Given the description of an element on the screen output the (x, y) to click on. 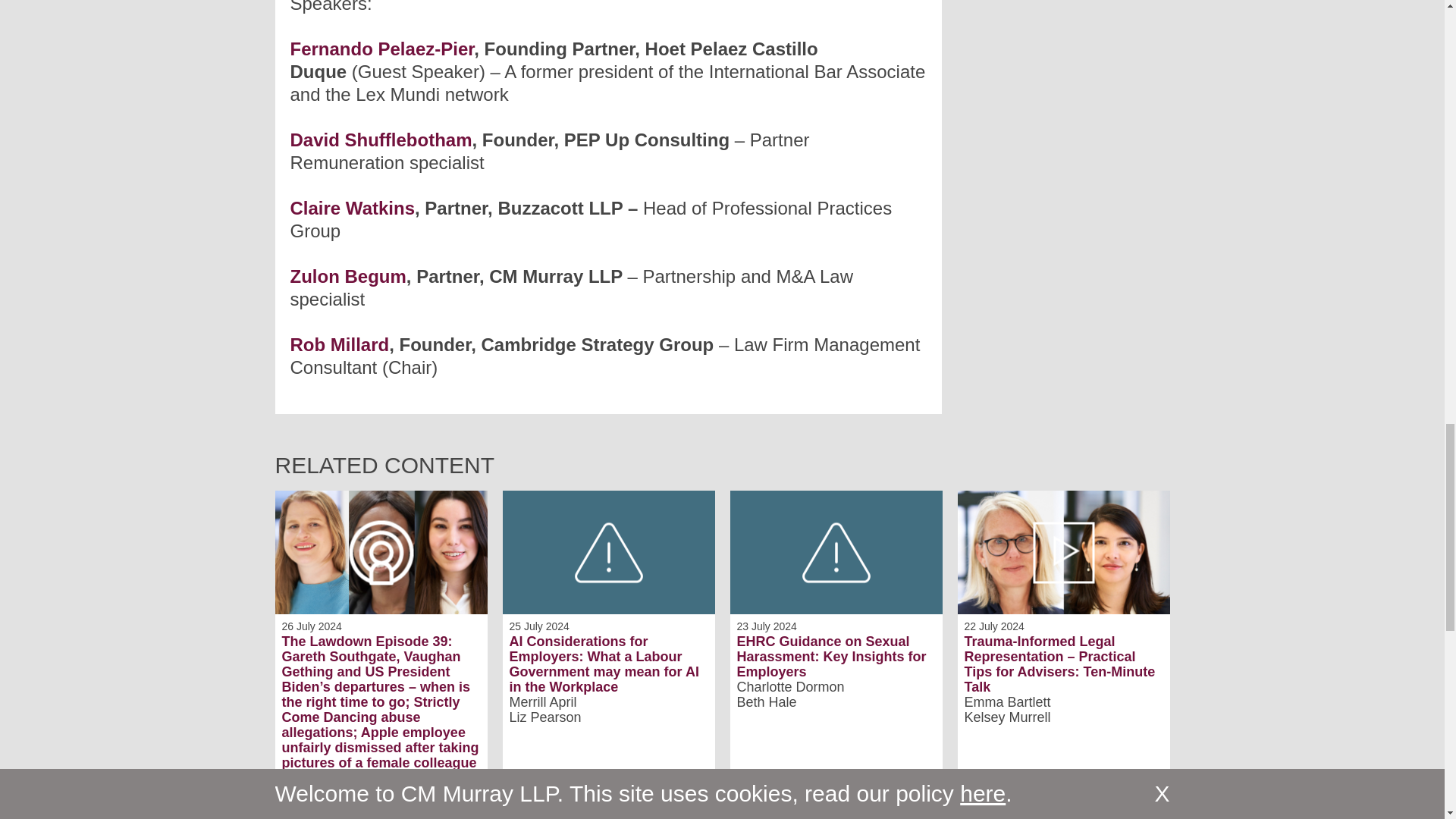
Fernando Pelaez-Pier (381, 48)
